Given the description of an element on the screen output the (x, y) to click on. 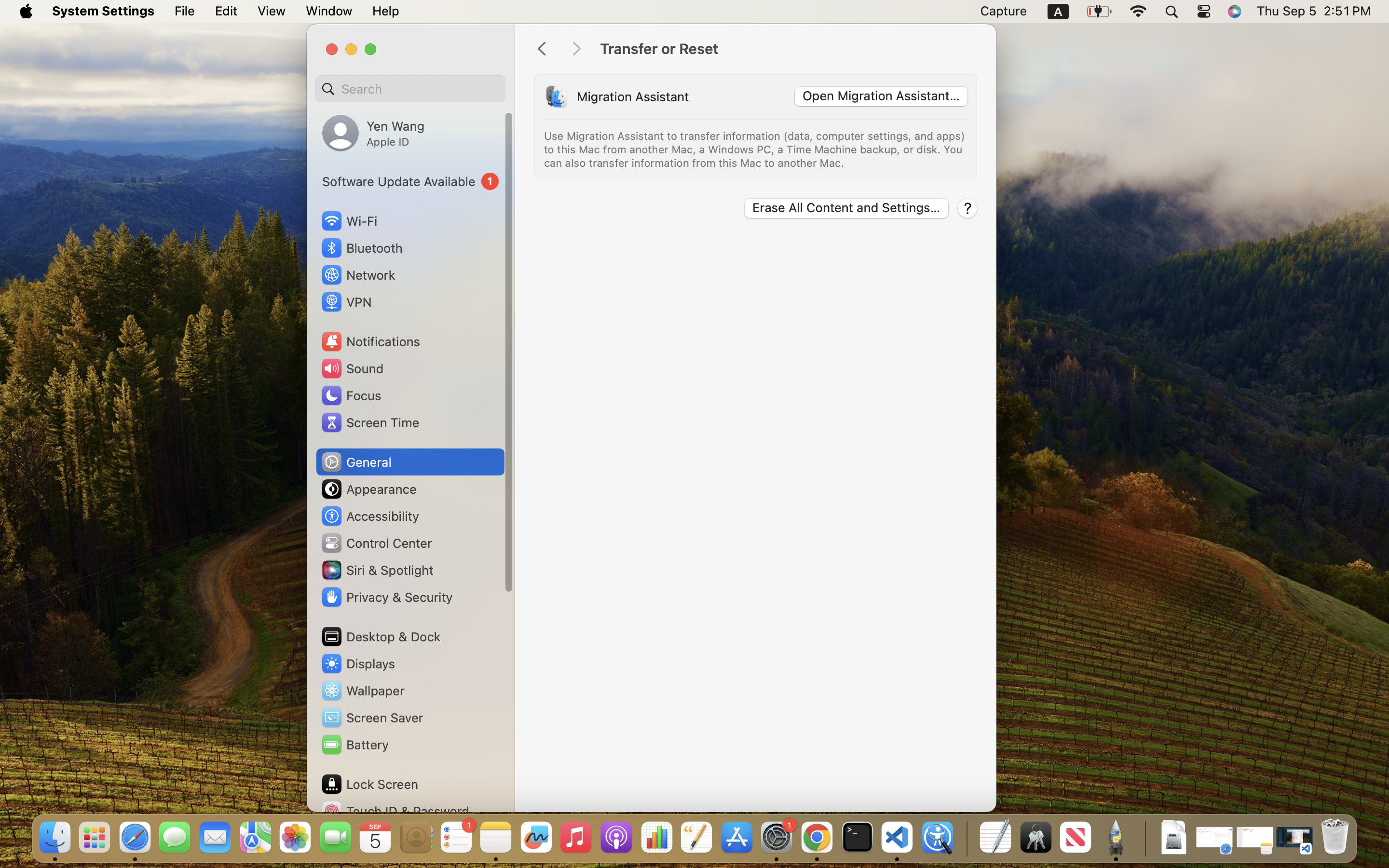
Lock Screen Element type: AXStaticText (369, 783)
Siri & Spotlight Element type: AXStaticText (376, 569)
Yen Wang, Apple ID Element type: AXStaticText (373, 132)
1 Element type: AXStaticText (410, 180)
Use Migration Assistant to transfer information (data, computer settings, and apps) to this Mac from another Mac, a Windows PC, a Time Machine backup, or disk. You can also transfer information from this Mac to another Mac. Element type: AXStaticText (755, 149)
